Given the description of an element on the screen output the (x, y) to click on. 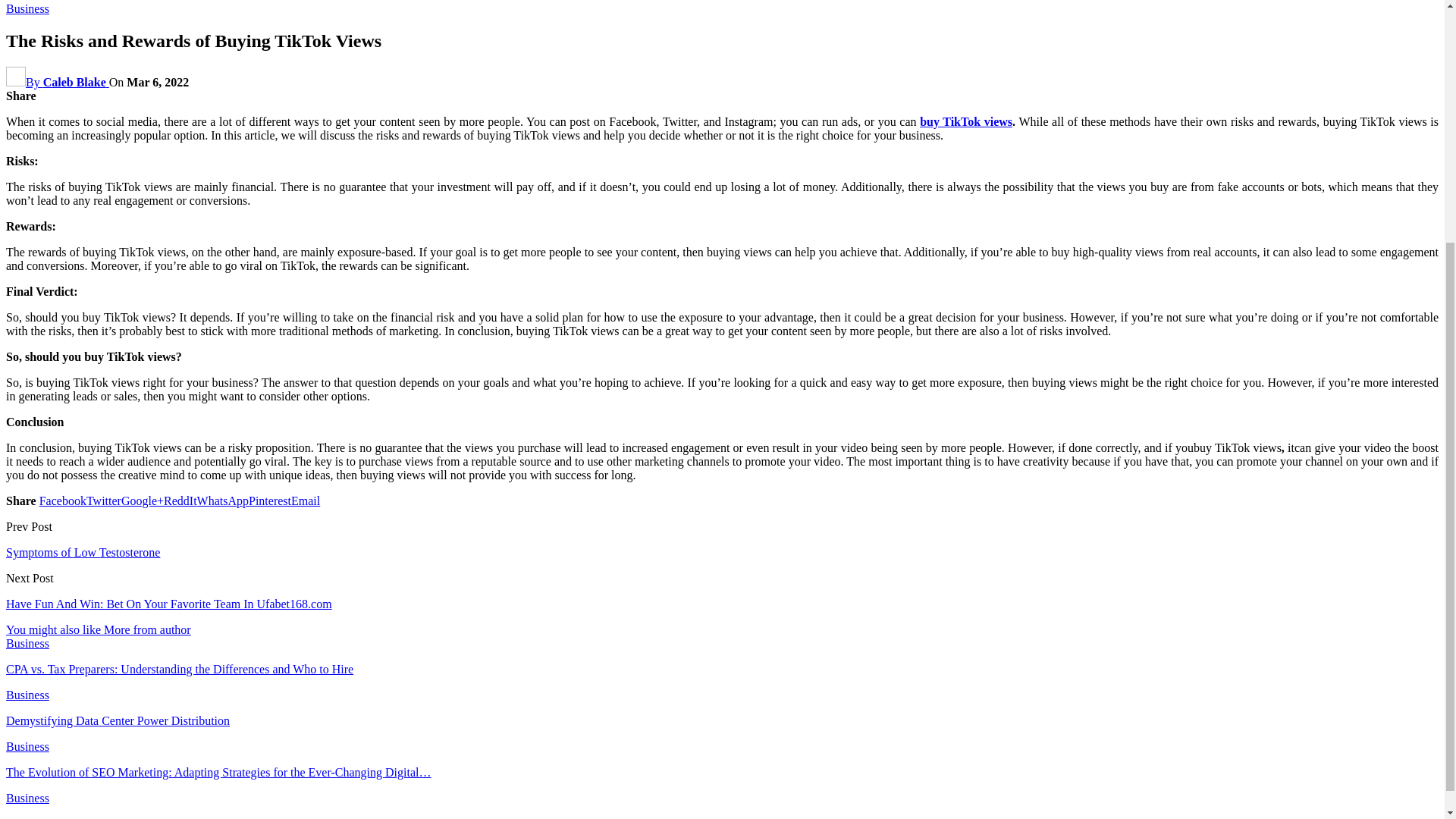
Business (27, 643)
By Caleb Blake (57, 82)
Browse Author Articles (57, 82)
Demystifying Data Center Power Distribution (117, 720)
buy TikTok views (965, 121)
ReddIt (179, 500)
Facebook (62, 500)
Business (27, 8)
